Given the description of an element on the screen output the (x, y) to click on. 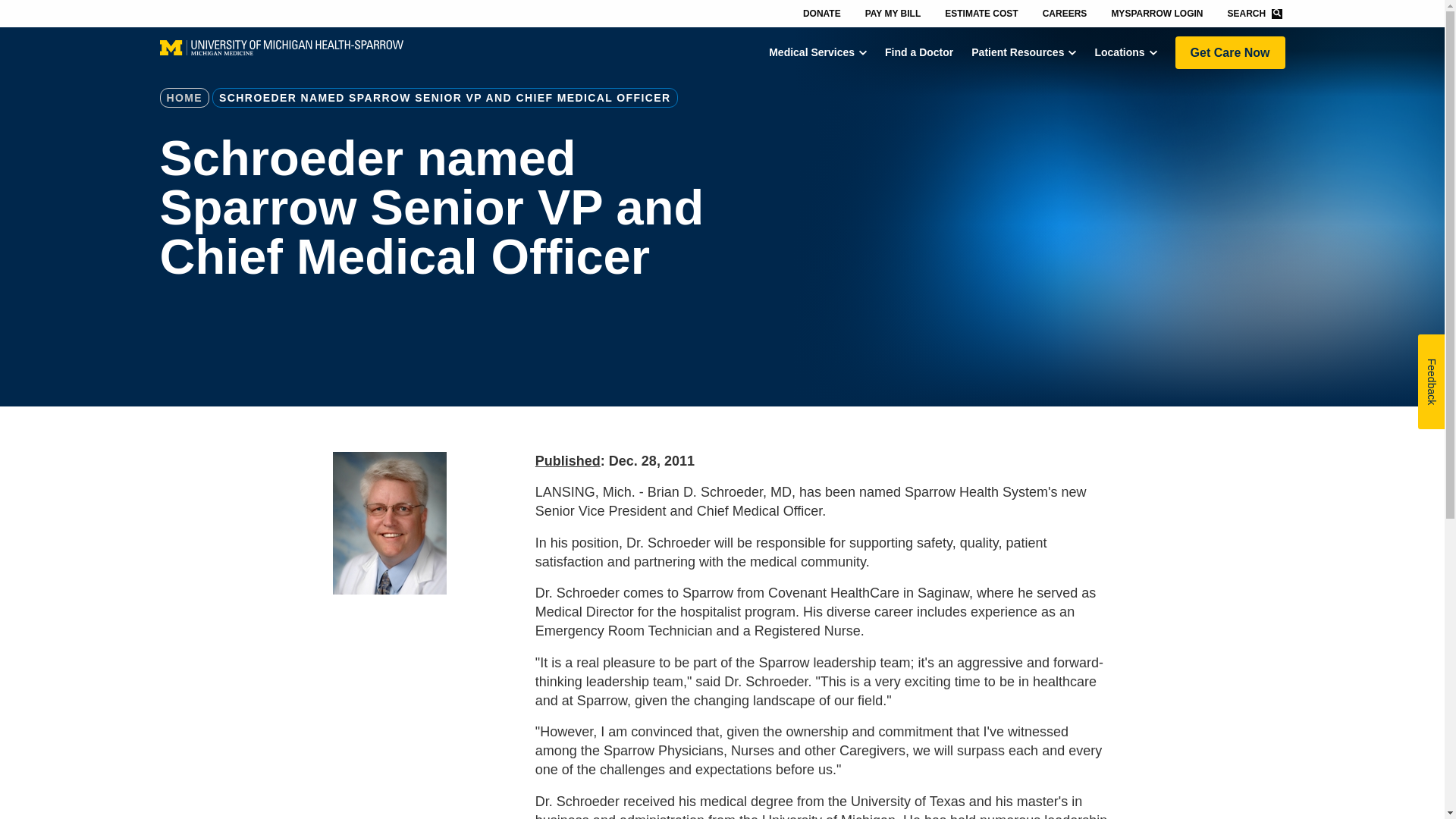
Price Estimator  (981, 12)
ESTIMATE COST (981, 12)
DONATE (821, 12)
CAREERS (1064, 12)
Medical Services (811, 51)
MYSPARROW LOGIN (1156, 12)
SEARCH (1254, 13)
Patient Resources (1017, 51)
PAY MY BILL (893, 12)
Find a Doctor (919, 51)
Locations (1119, 51)
